Given the description of an element on the screen output the (x, y) to click on. 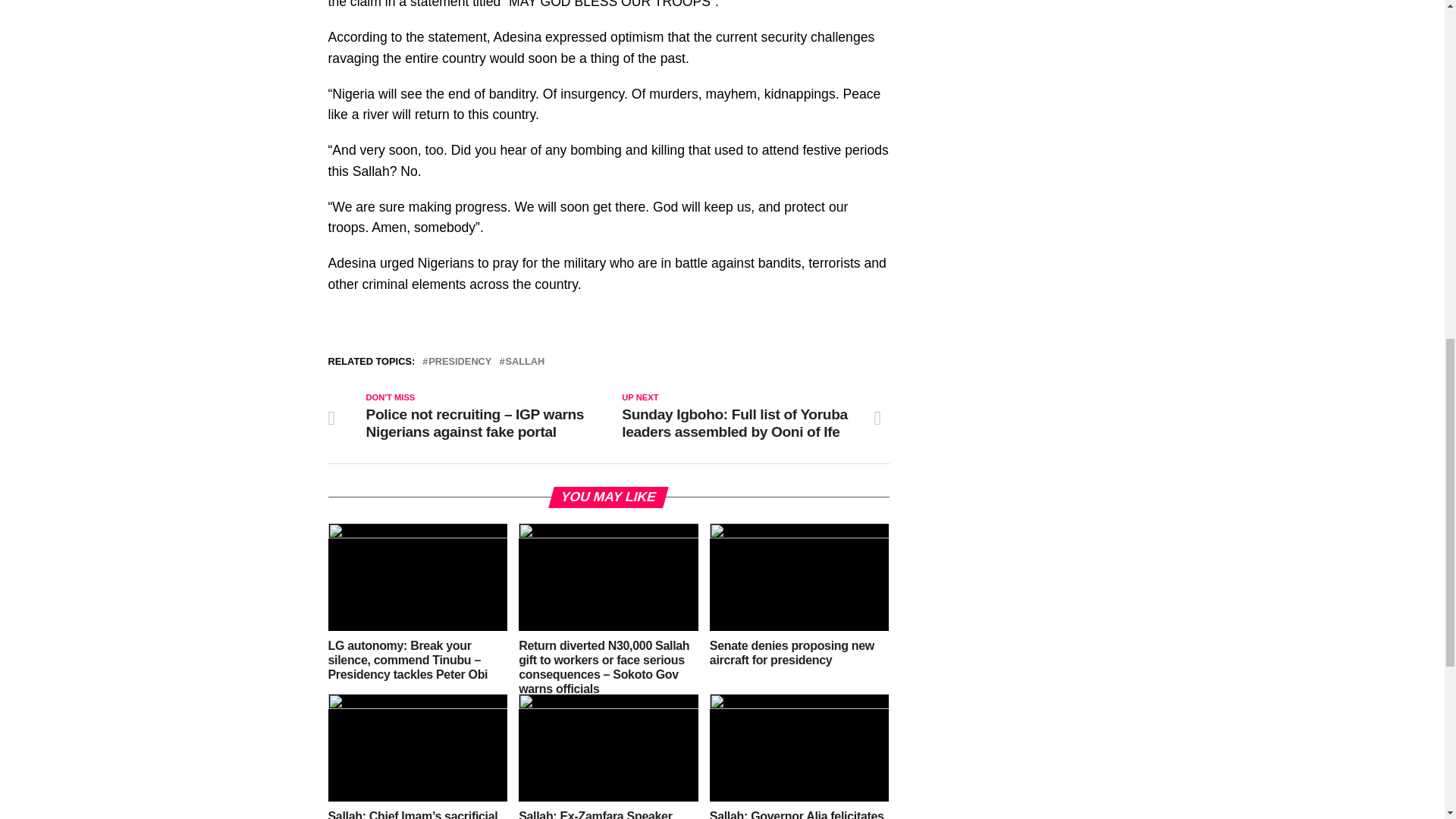
PRESIDENCY (460, 361)
SALLAH (524, 361)
